Given the description of an element on the screen output the (x, y) to click on. 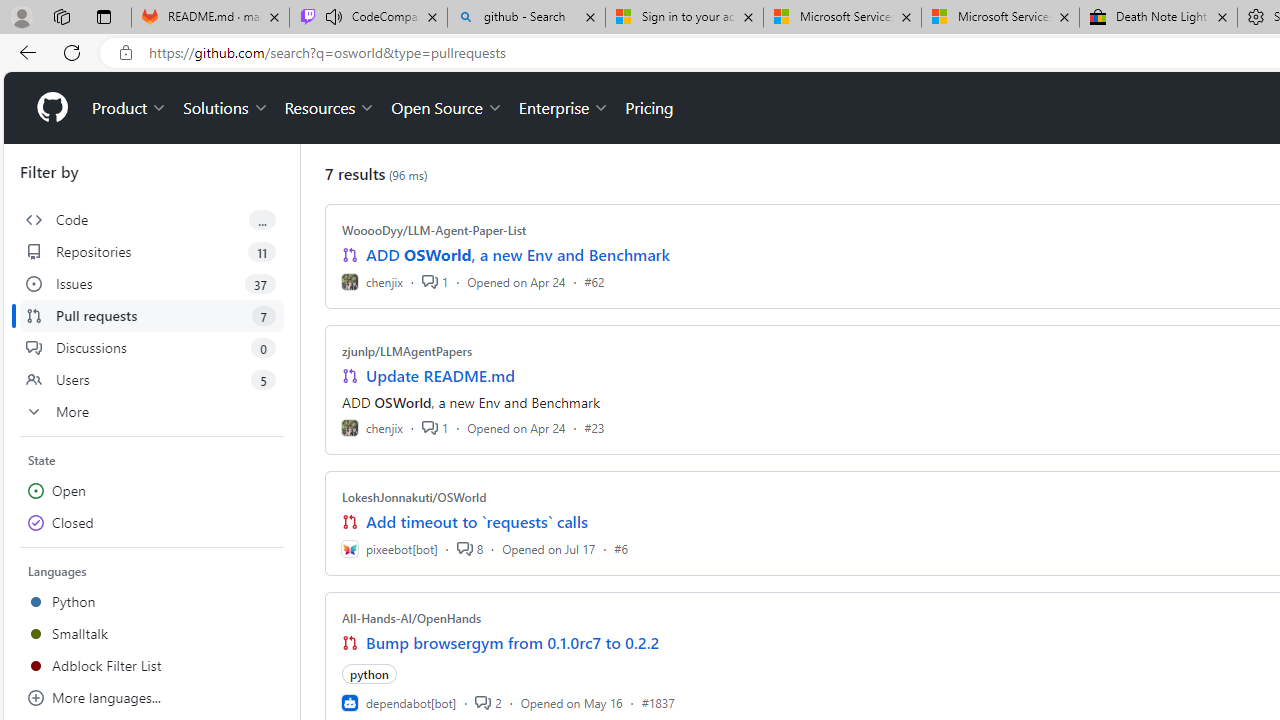
Microsoft Services Agreement (1000, 17)
Pricing (649, 107)
Resources (330, 107)
Sign in to your account (683, 17)
#62 (594, 281)
